Given the description of an element on the screen output the (x, y) to click on. 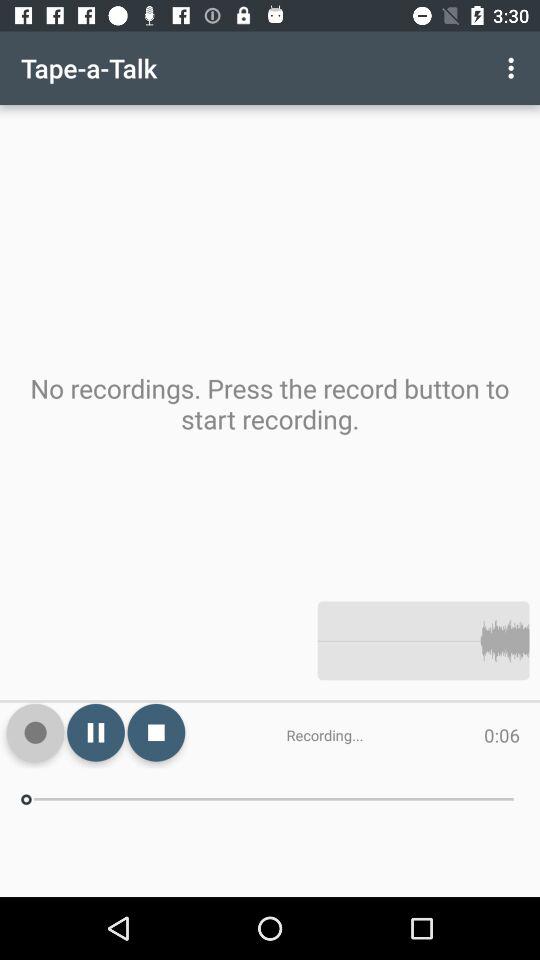
launch the icon to the right of tape-a-talk item (513, 67)
